Given the description of an element on the screen output the (x, y) to click on. 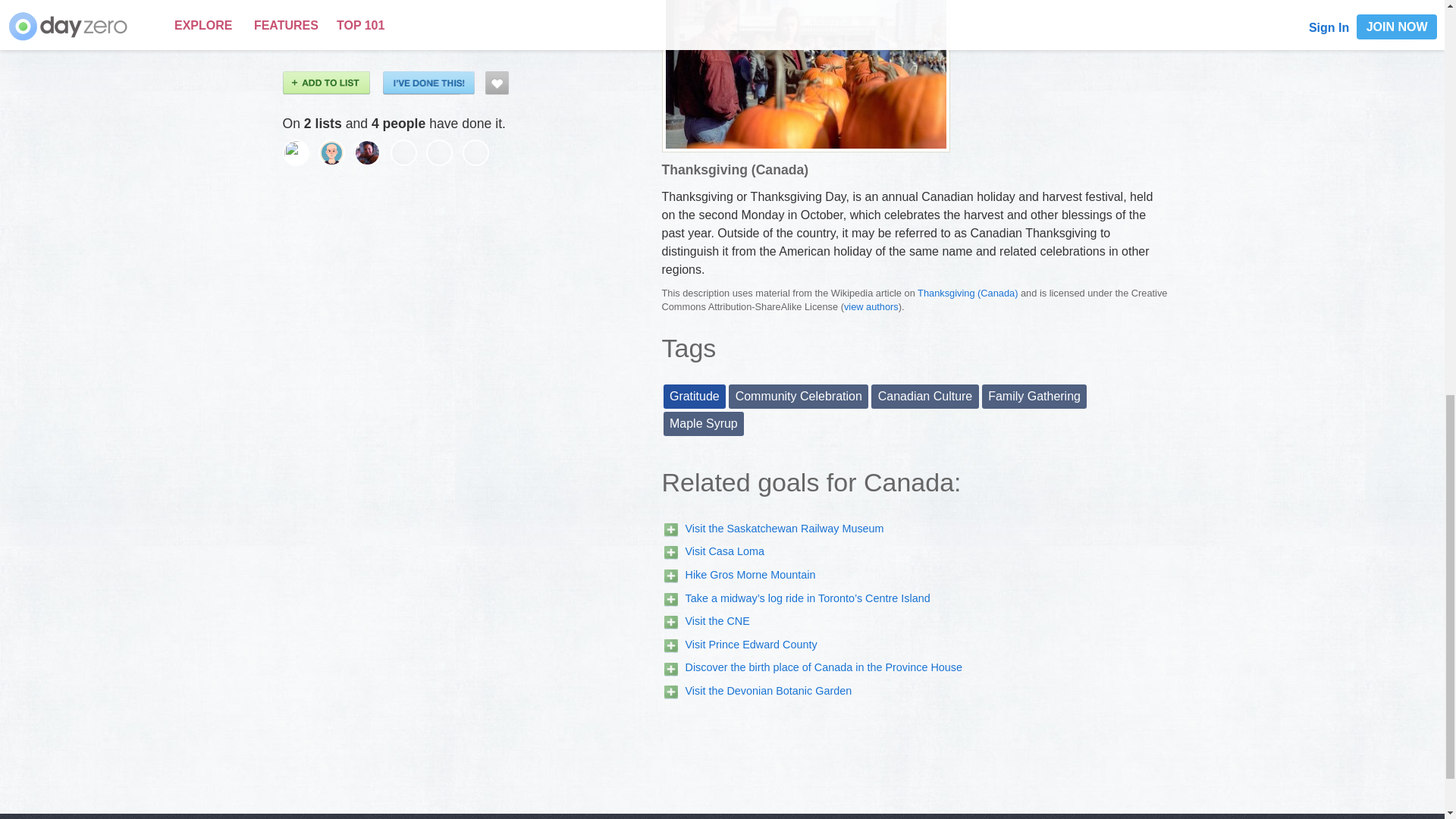
Visit Casa Loma (725, 551)
Hike Gros Morne Mountain (750, 574)
Visit the Saskatchewan Railway Museum (784, 528)
Visit the CNE (717, 621)
view authors (871, 306)
